Given the description of an element on the screen output the (x, y) to click on. 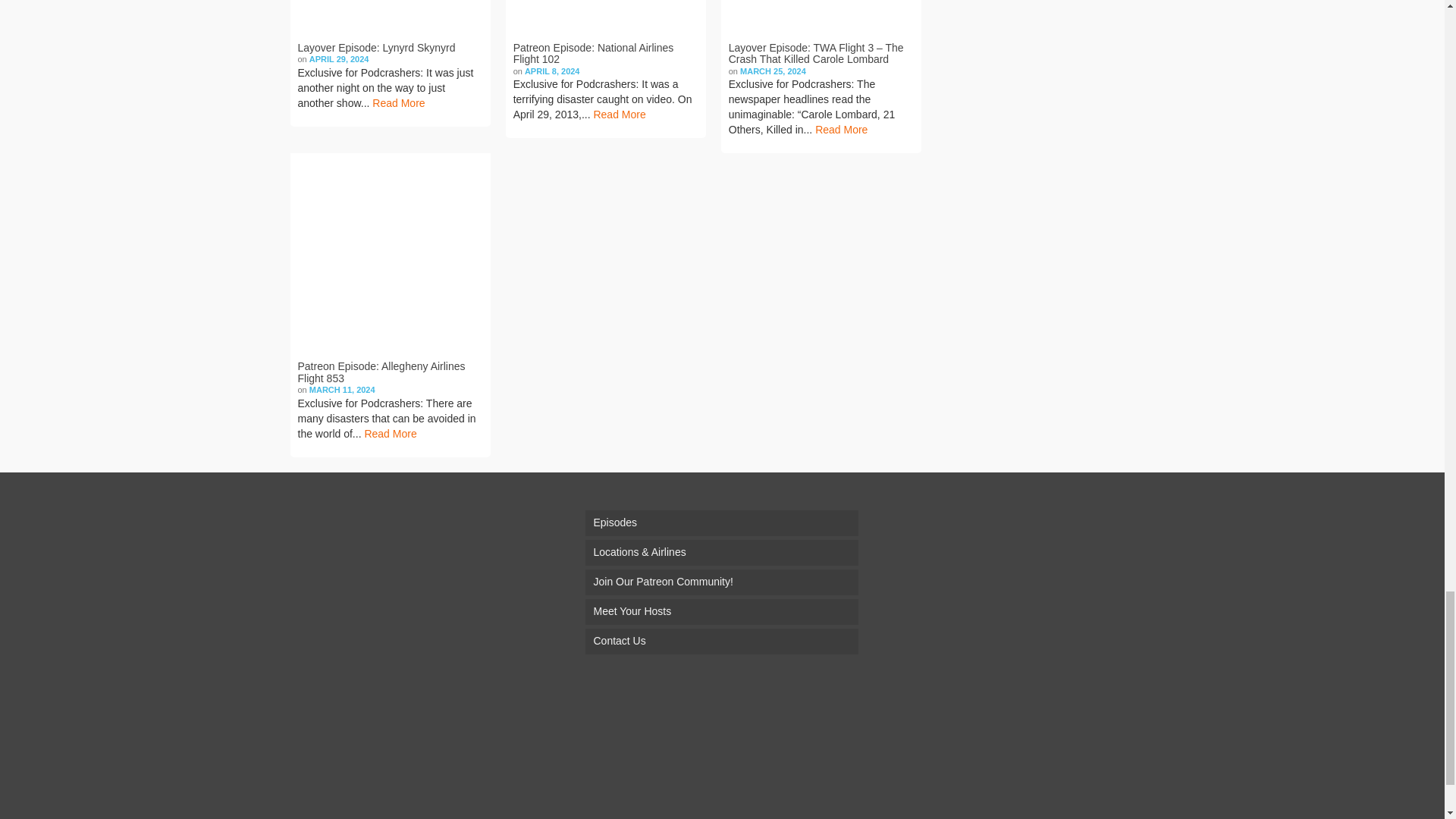
Patreon Episode: Allegheny Airlines Flight 853 (389, 252)
Patreon Episode: National Airlines Flight 102 (605, 17)
Layover Episode: Lynyrd Skynyrd (389, 17)
